Given the description of an element on the screen output the (x, y) to click on. 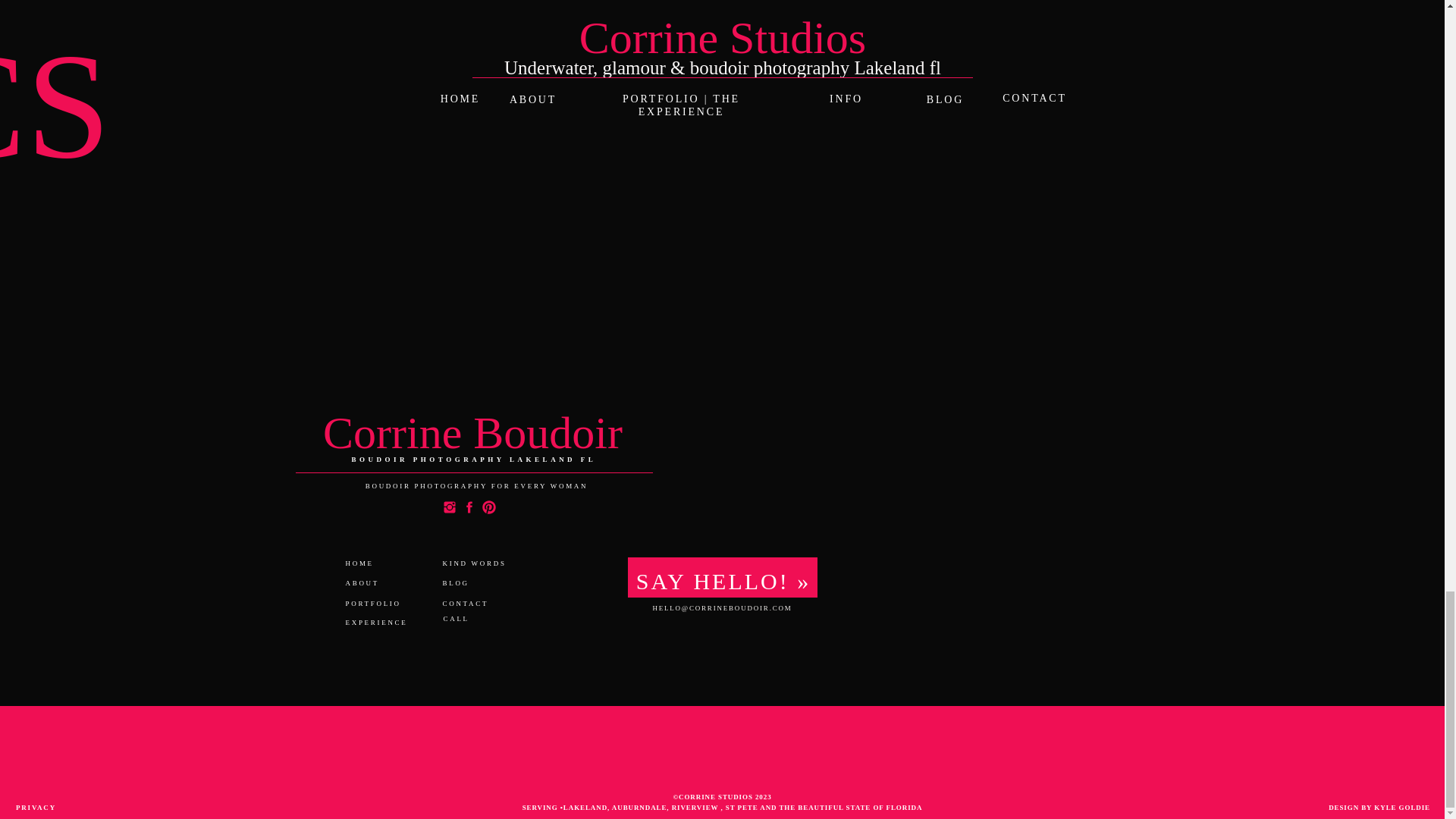
DESIGN BY KYLE GOLDIE (1364, 807)
EXPERIENCE (384, 624)
PORTFOLIO (380, 604)
KIND WORDS (486, 564)
HOME (369, 564)
CALL (479, 619)
ABOUT (374, 583)
Corrine Boudoir (472, 429)
CONTACT (479, 604)
PRIVACY (43, 807)
BLOG (467, 584)
